Given the description of an element on the screen output the (x, y) to click on. 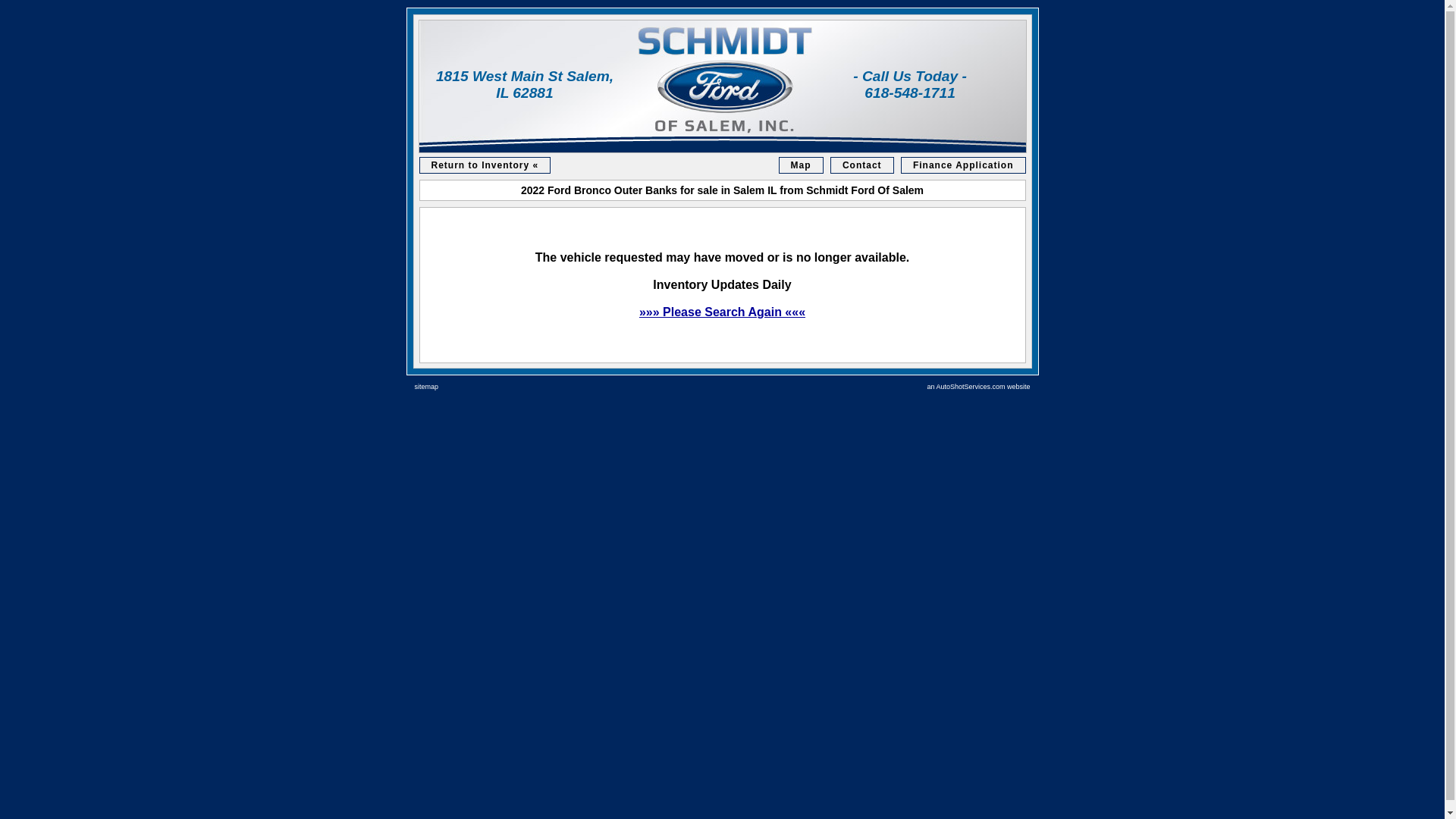
an AutoShotServices.com website (977, 386)
Finance Application (962, 164)
Map (800, 164)
Contact (862, 164)
sitemap (425, 386)
Schmidt Ford Of Salem (721, 86)
